Given the description of an element on the screen output the (x, y) to click on. 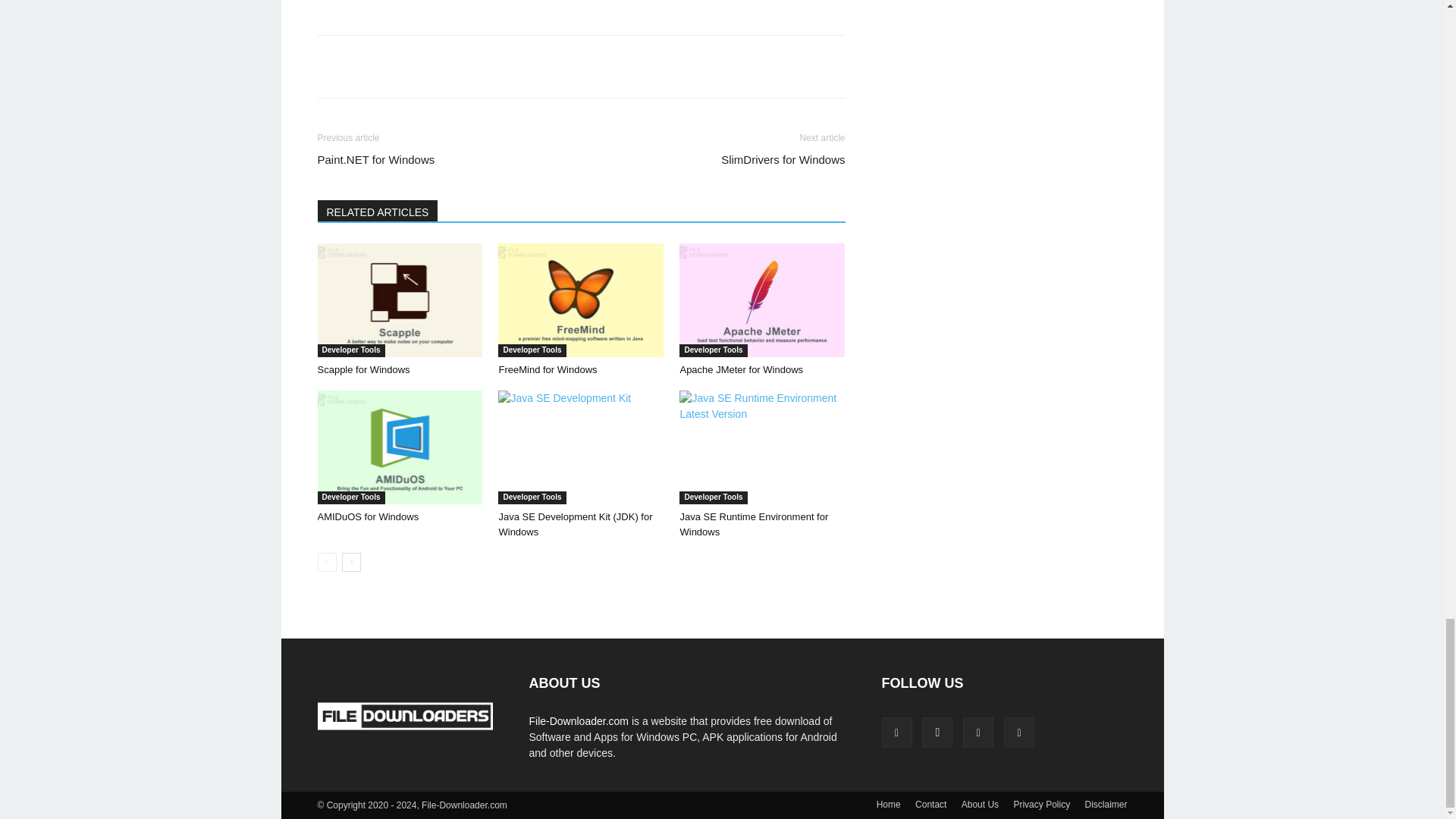
Developer Tools (350, 350)
Scapple for Windows (363, 369)
Scapple for Windows (399, 300)
Paint.NET for Windows (375, 159)
FreeMind for Windows (580, 300)
Scapple for Windows (363, 369)
RELATED ARTICLES (377, 210)
SlimDrivers for Windows (782, 159)
FreeMind for Windows (546, 369)
